Given the description of an element on the screen output the (x, y) to click on. 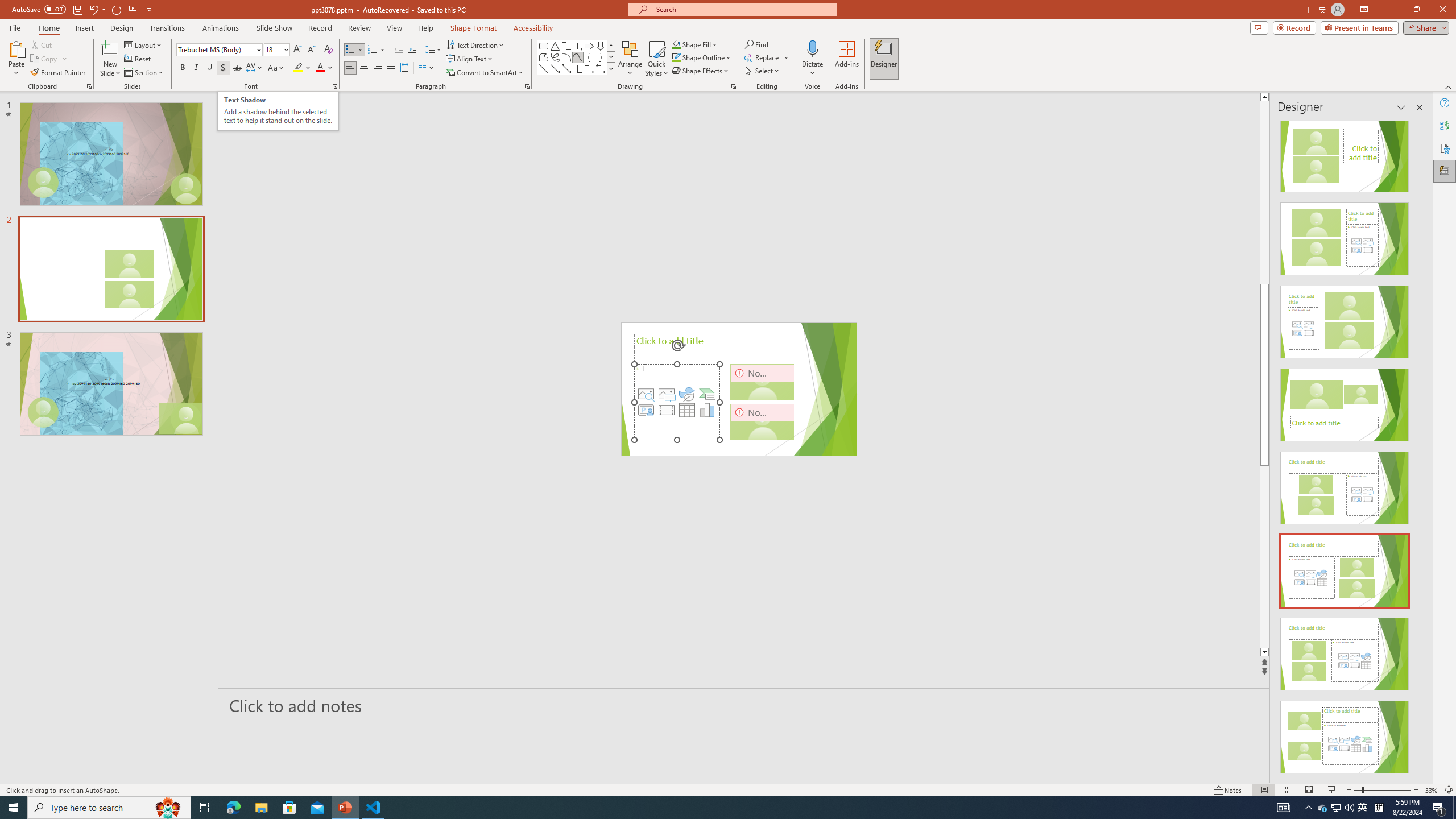
Class: NetUIScrollBar (1418, 447)
